Given the description of an element on the screen output the (x, y) to click on. 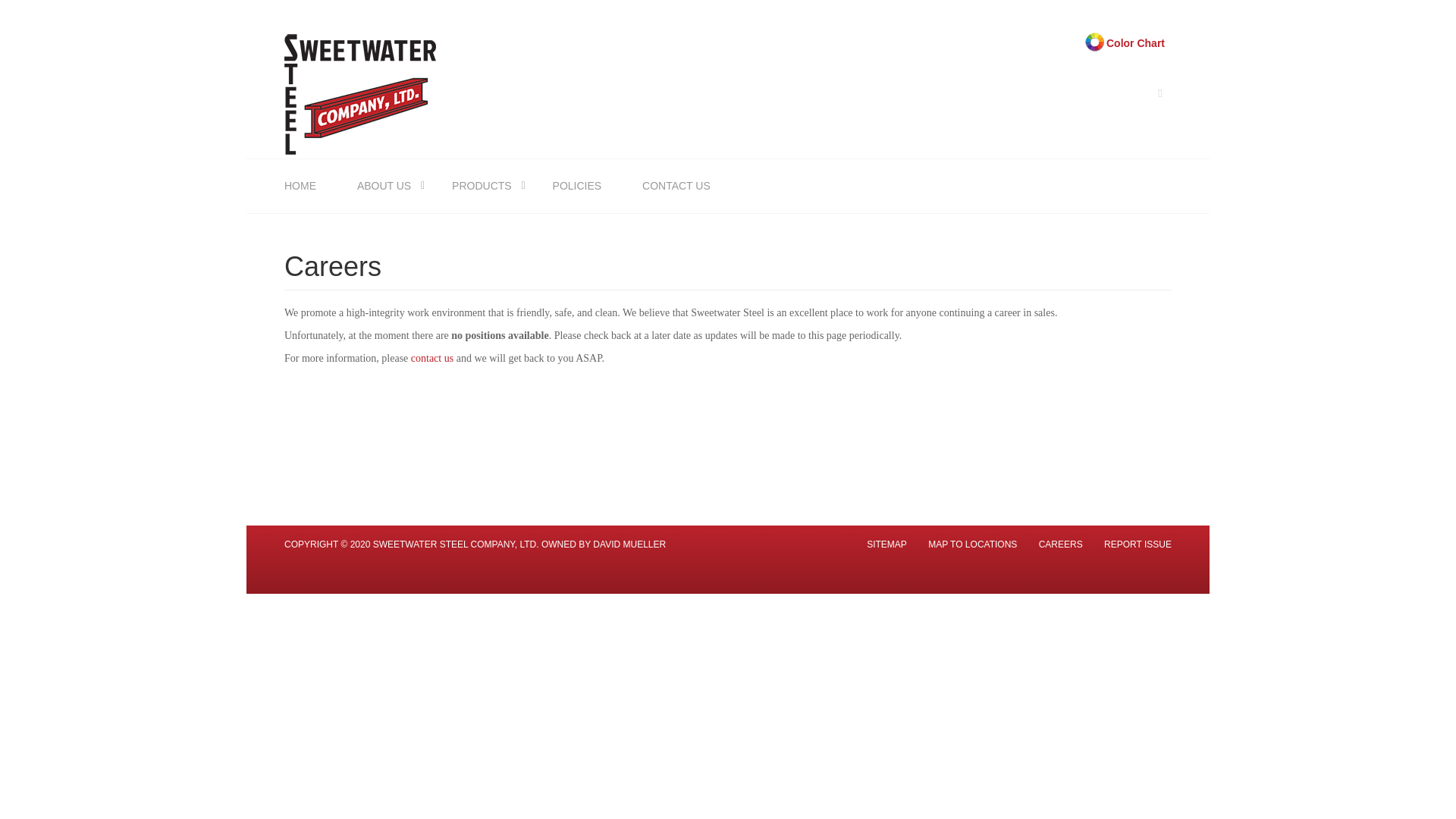
contact us via our contact form (433, 357)
ABOUT US (384, 185)
POLICIES (577, 185)
Color Chart (1125, 41)
CONTACT US (675, 185)
PRODUCTS (481, 185)
HOME (303, 185)
